Given the description of an element on the screen output the (x, y) to click on. 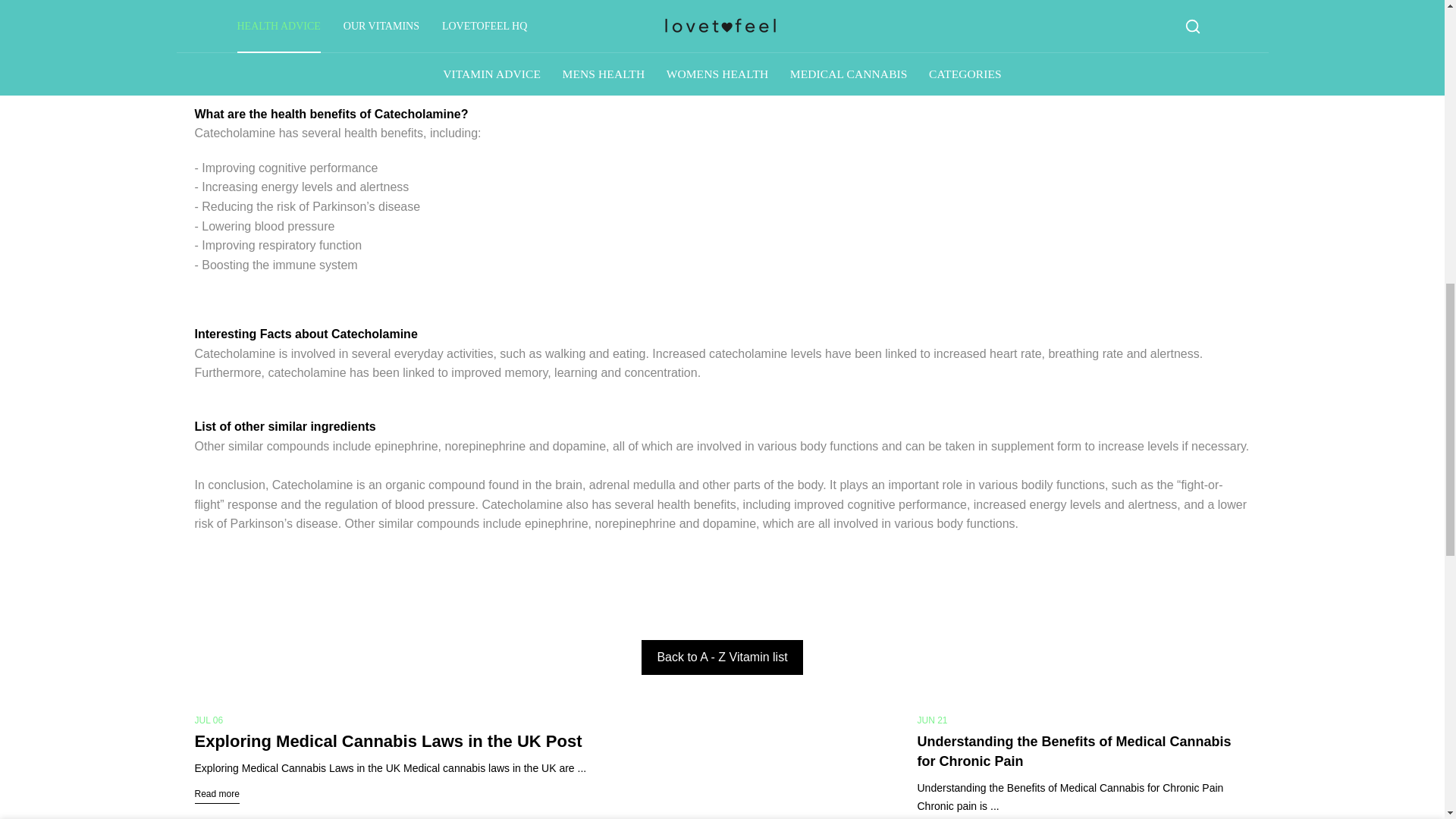
Read more (215, 793)
Back to A - Z Vitamin list (722, 656)
Exploring Medical Cannabis Laws in the UK Post (386, 741)
